Given the description of an element on the screen output the (x, y) to click on. 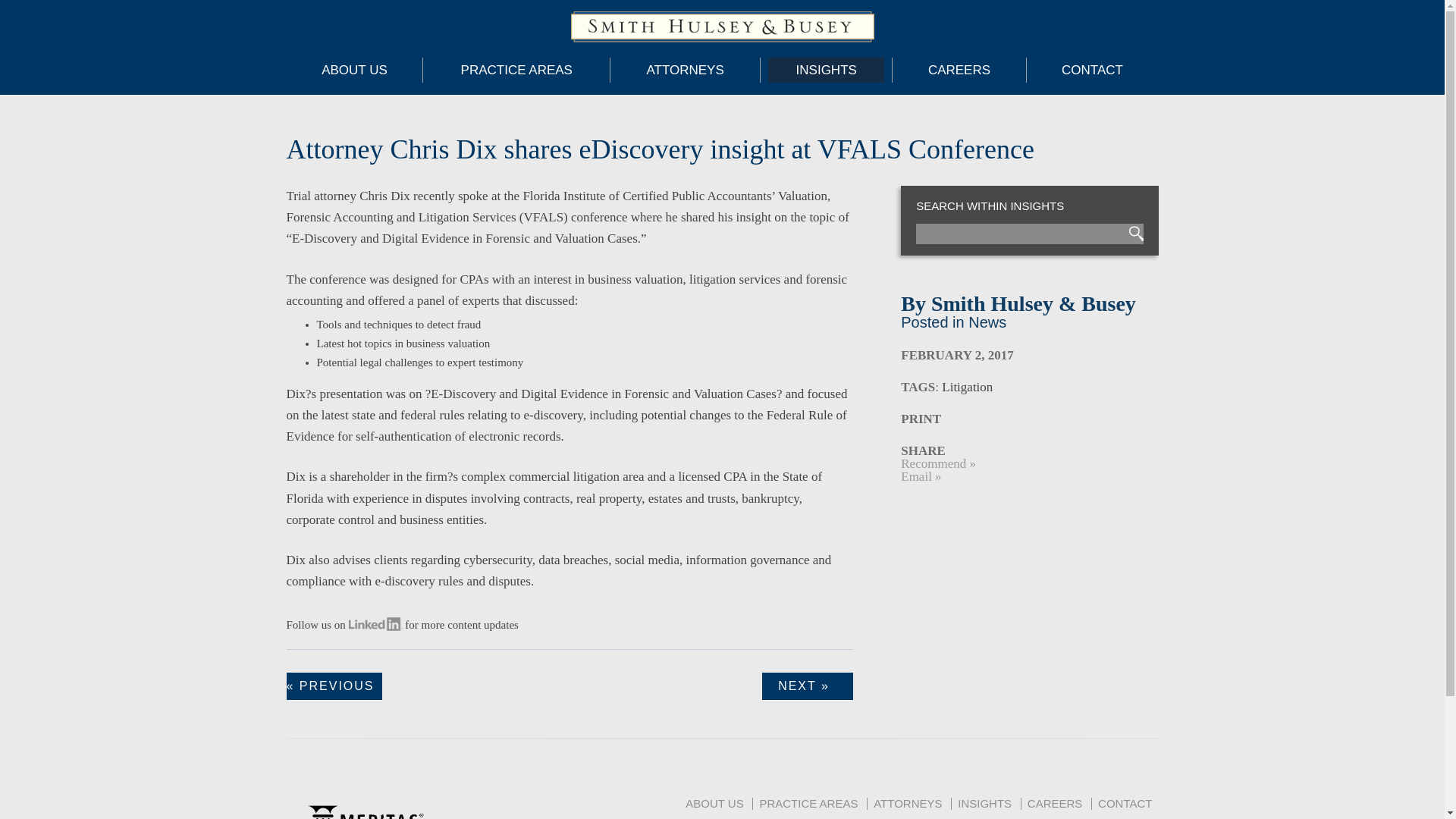
PRINT (920, 418)
Litigation (967, 386)
ATTORNEYS (684, 69)
CONTACT (1092, 69)
PRACTICE AREAS (516, 69)
ABOUT US (354, 69)
INSIGHTS (825, 69)
Follow us on for more content updates (402, 624)
CAREERS (958, 69)
News (987, 321)
